Given the description of an element on the screen output the (x, y) to click on. 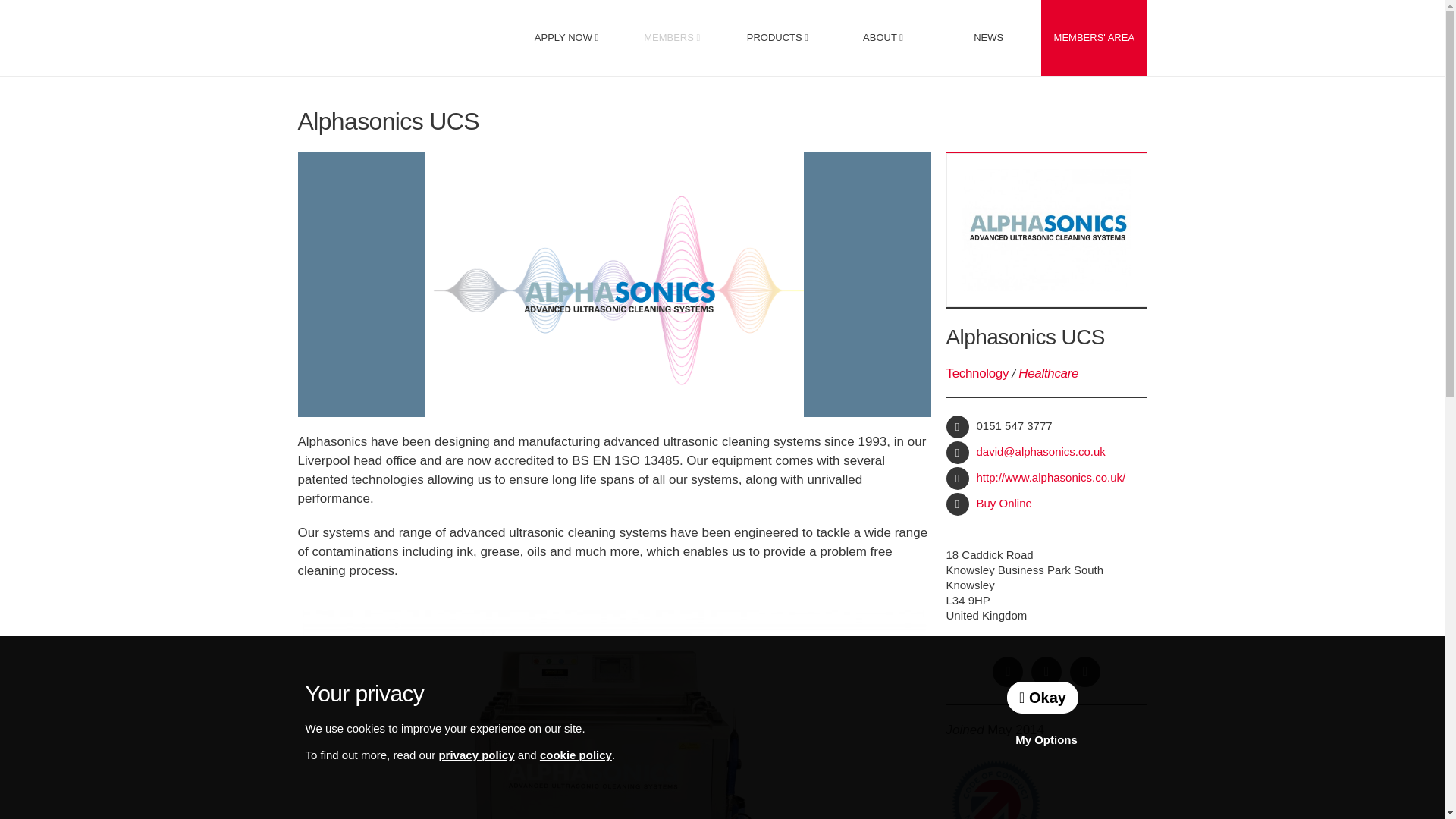
MEMBERS (672, 38)
Alphasonics UCS - Facebook (1007, 671)
Alphasonics UCS (149, 619)
visit Alphasonics UCS - Shop (957, 504)
Email Alphasonics UCS (957, 452)
Made in Britain - Code of Conduct (995, 789)
Telephone Alphasonics UCS (957, 426)
PRODUCTS (777, 38)
Alphasonics UCS - Linkedin (1085, 671)
Alphasonics UCS - Twitter (1045, 671)
